Given the description of an element on the screen output the (x, y) to click on. 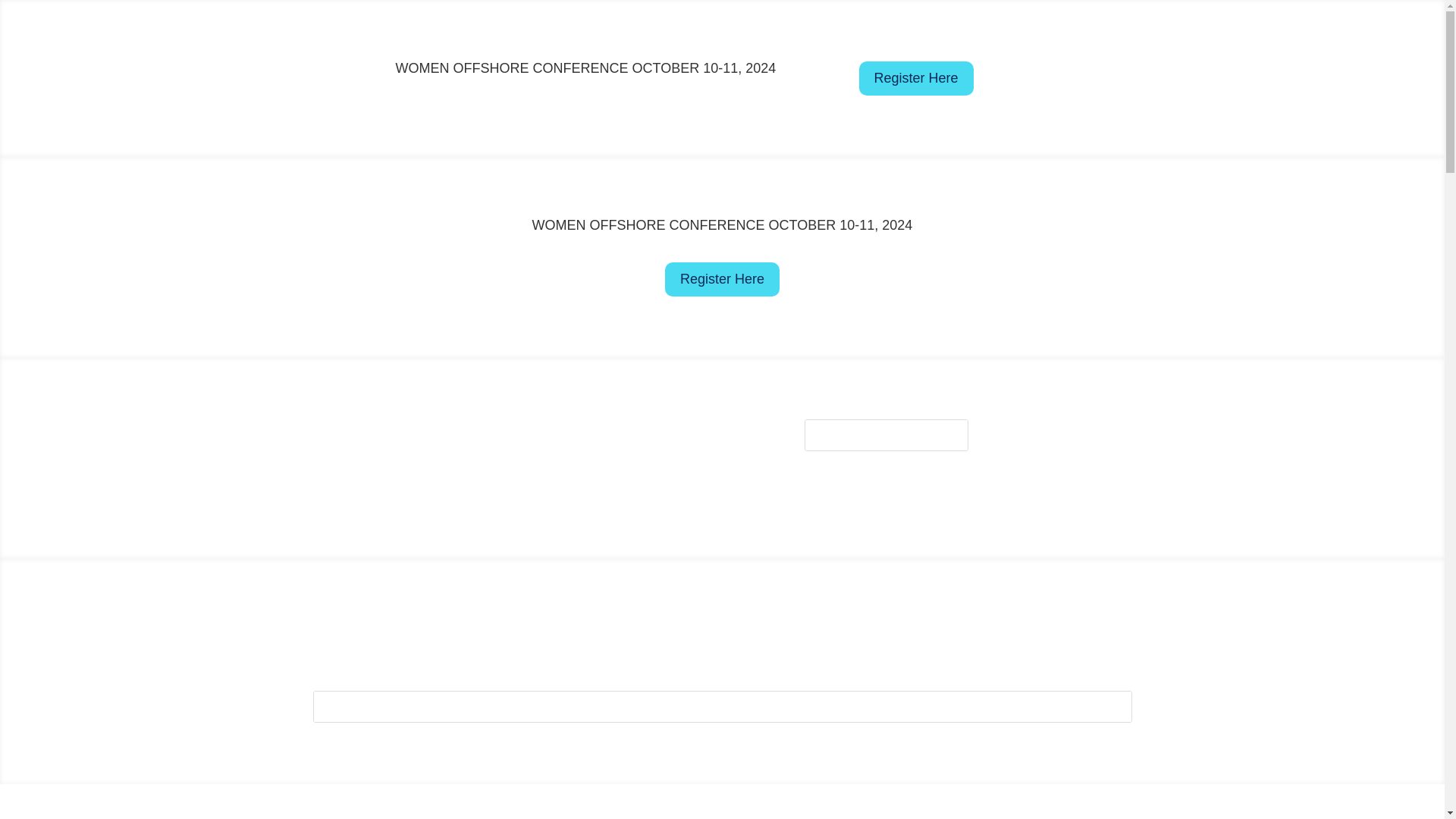
Follow on Instagram (1082, 431)
Search (940, 435)
Follow on Pinterest (800, 631)
Follow on Youtube (678, 631)
Register Here (721, 279)
Follow on iTunes (740, 631)
Search (940, 435)
Follow on Podcast (830, 631)
Follow on Pinterest (1082, 461)
Follow on Podcast (1112, 461)
Follow on Instagram (709, 631)
Search (1104, 706)
Follow on Facebook (618, 631)
Follow on Facebook (991, 431)
Follow on iTunes (1112, 431)
